Given the description of an element on the screen output the (x, y) to click on. 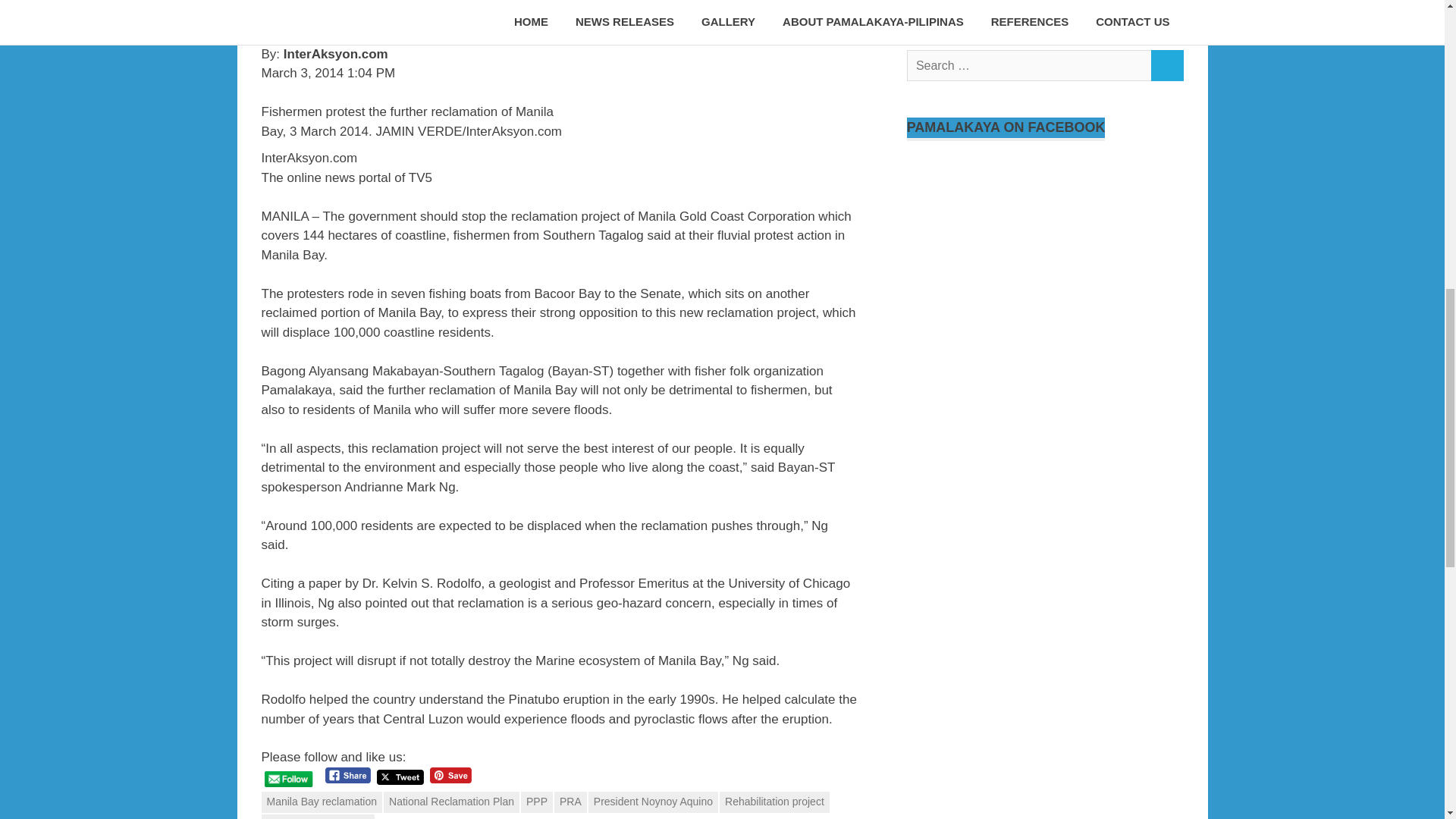
Search for: (1029, 65)
PRA (570, 802)
Rehabilitation project (774, 802)
Likebox Iframe (1045, 231)
Senator Cynthia Villar (317, 816)
National Reclamation Plan (451, 802)
Facebook Share (347, 774)
Tweet (400, 776)
Manila Bay reclamation (320, 802)
PPP (537, 802)
President Noynoy Aquino (652, 802)
Pin Share (450, 774)
InterAksyon.com (558, 167)
